Given the description of an element on the screen output the (x, y) to click on. 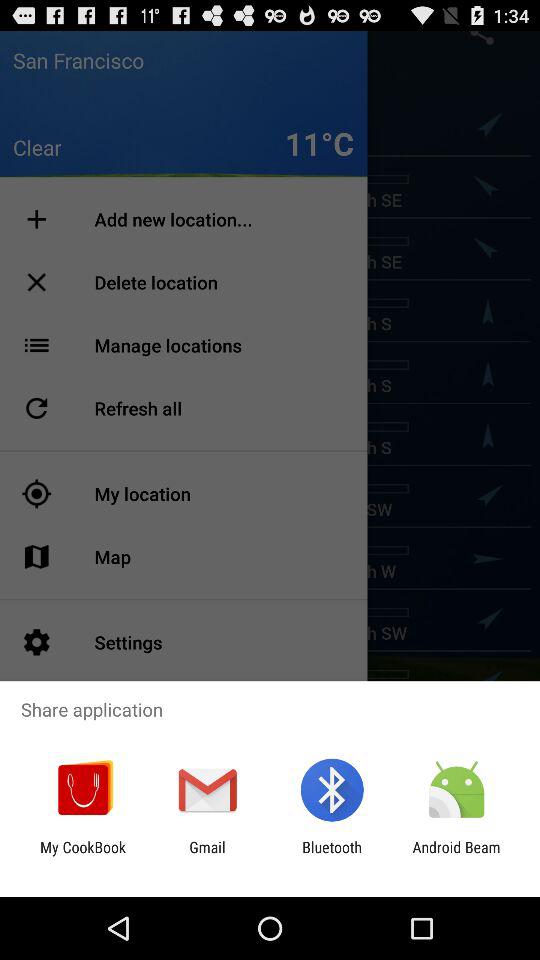
scroll until the gmail item (207, 856)
